Given the description of an element on the screen output the (x, y) to click on. 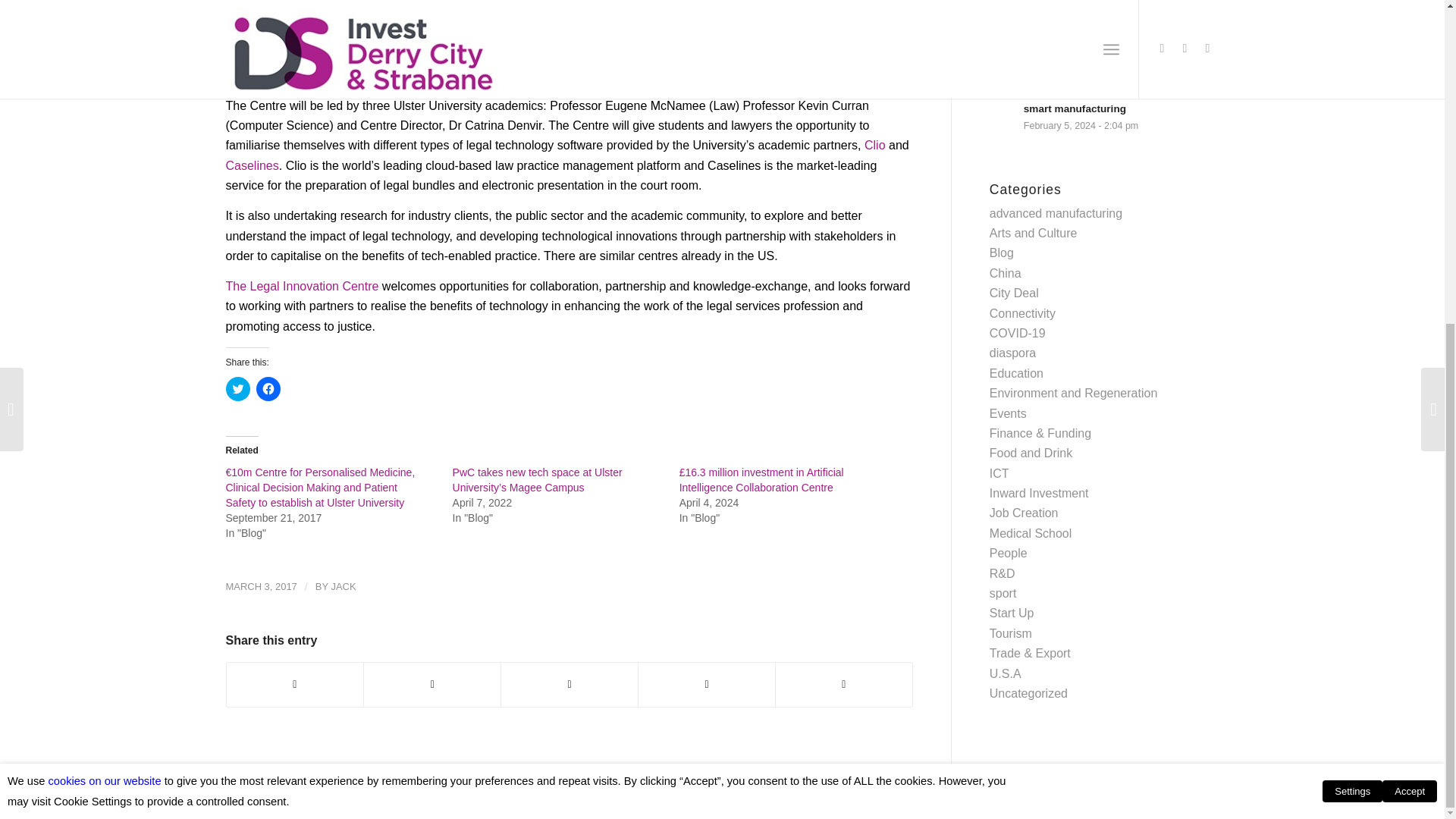
Click to share on Facebook (268, 388)
Click to share on Twitter (237, 388)
